Given the description of an element on the screen output the (x, y) to click on. 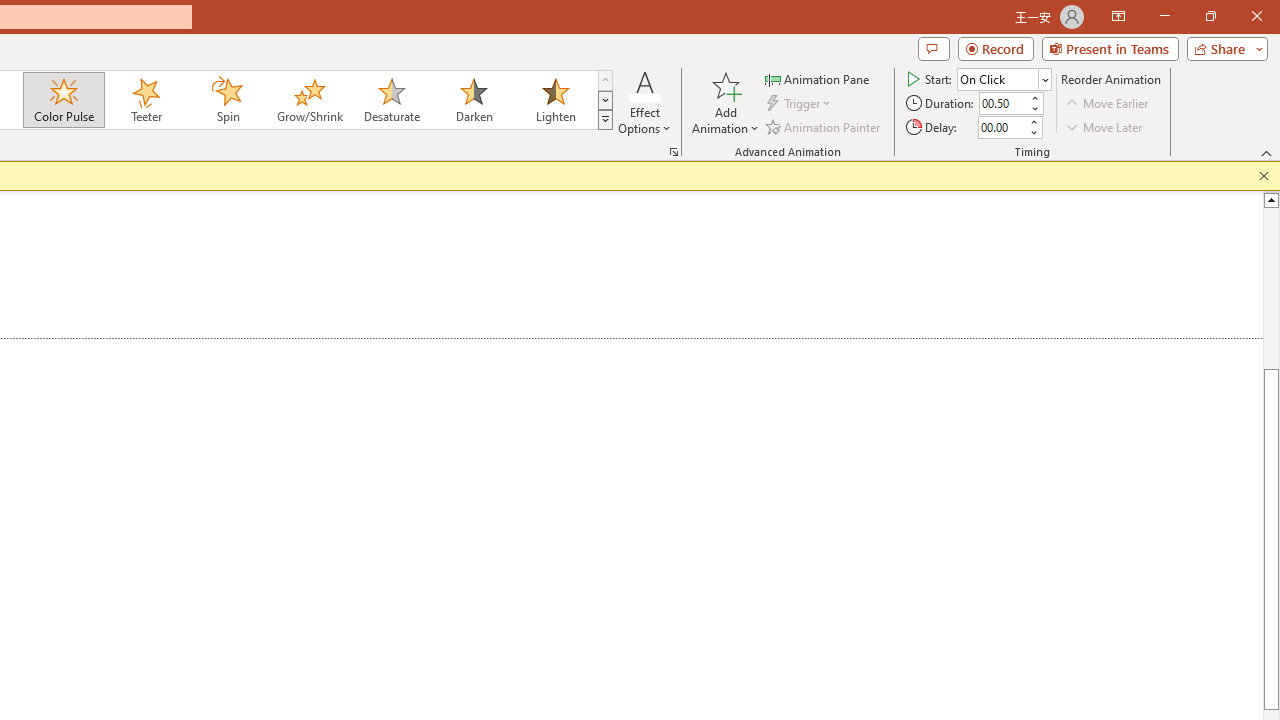
More (1033, 121)
Animation Styles (605, 120)
Trigger (799, 103)
Color Pulse (63, 100)
Animation Painter (824, 126)
Less (1033, 132)
Animation Delay (1002, 127)
Move Later (1105, 126)
Teeter (145, 100)
Darken (473, 100)
